Given the description of an element on the screen output the (x, y) to click on. 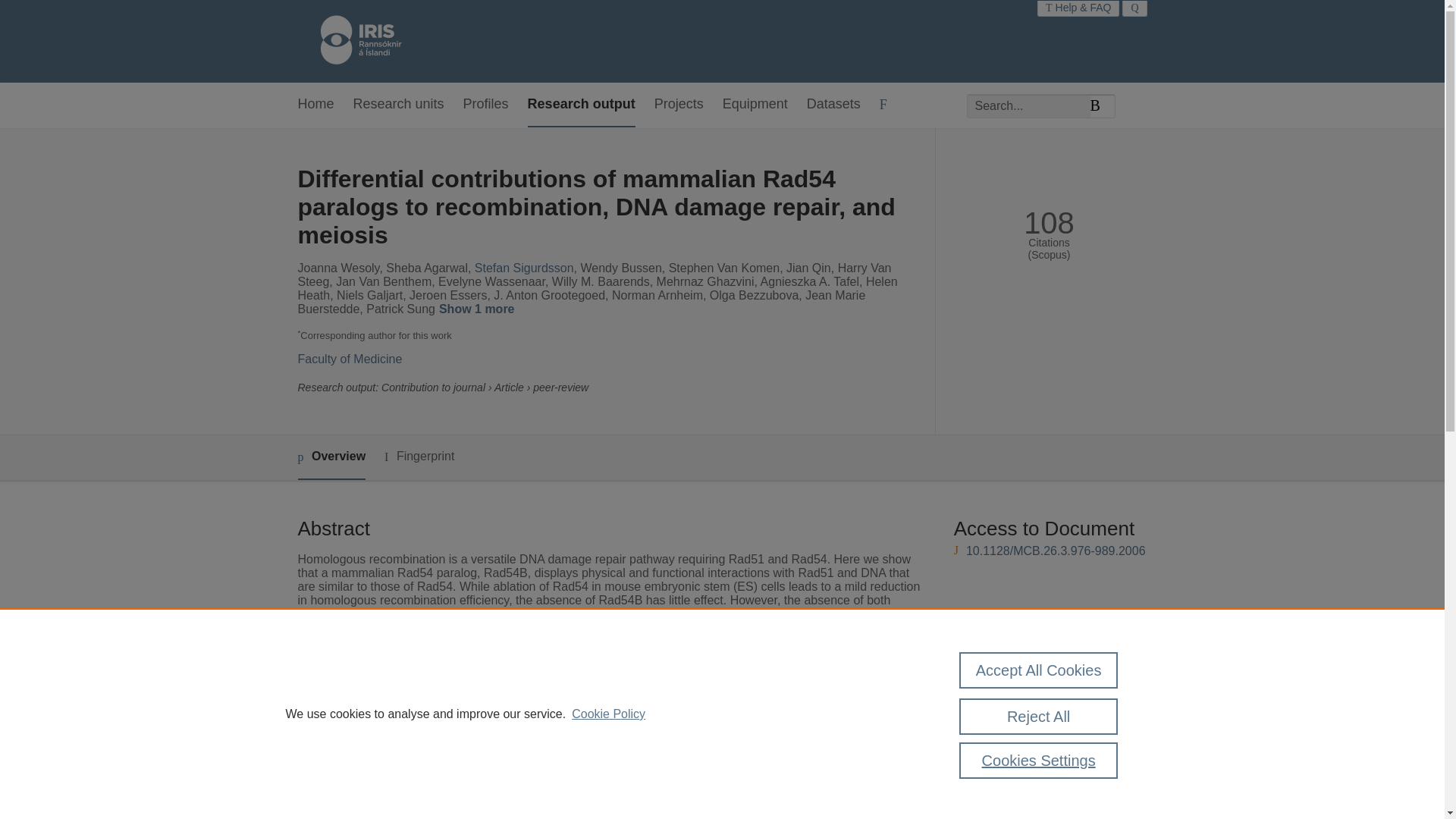
Home (353, 41)
Research output (580, 104)
Projects (678, 104)
Equipment (754, 104)
Profiles (485, 104)
Stefan Sigurdsson (523, 267)
Datasets (833, 104)
Overview (331, 456)
Fingerprint (419, 456)
